Given the description of an element on the screen output the (x, y) to click on. 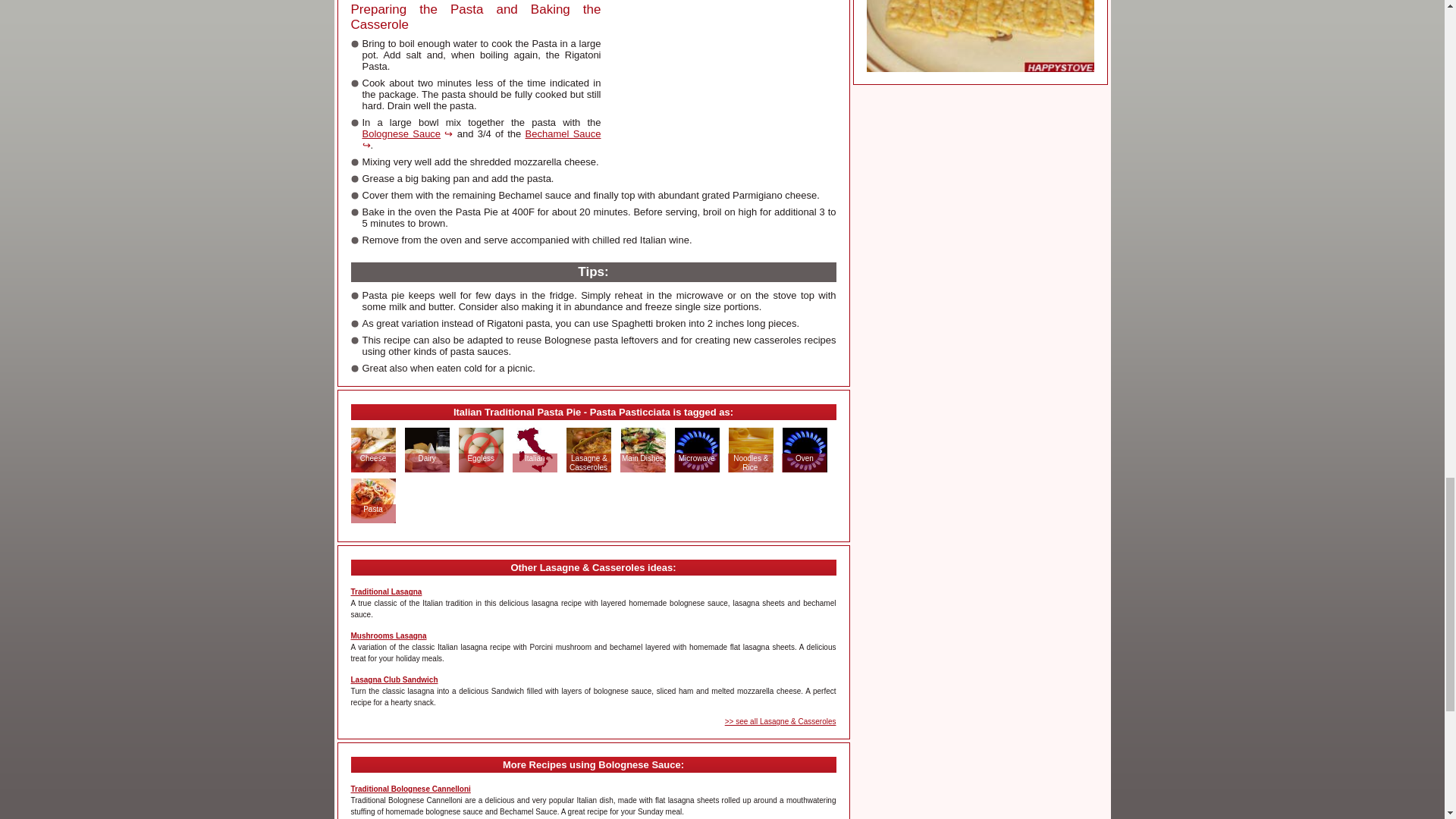
Italian (535, 458)
Cheese (373, 458)
Main Dishes (642, 458)
Dairy (425, 458)
Eggless (480, 458)
